Given the description of an element on the screen output the (x, y) to click on. 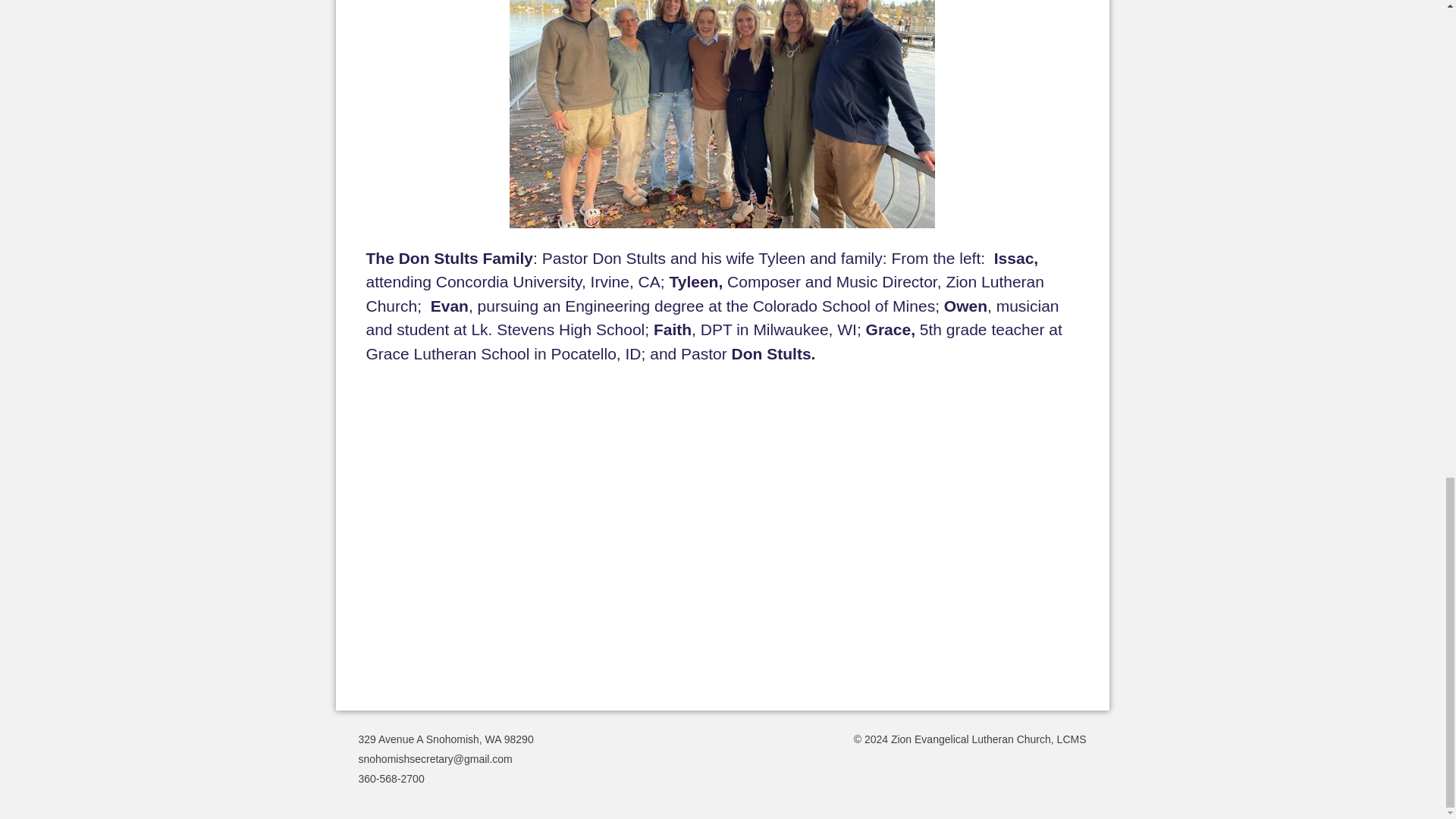
329 Avenue A Snohomish, WA 98290 (445, 739)
